Given the description of an element on the screen output the (x, y) to click on. 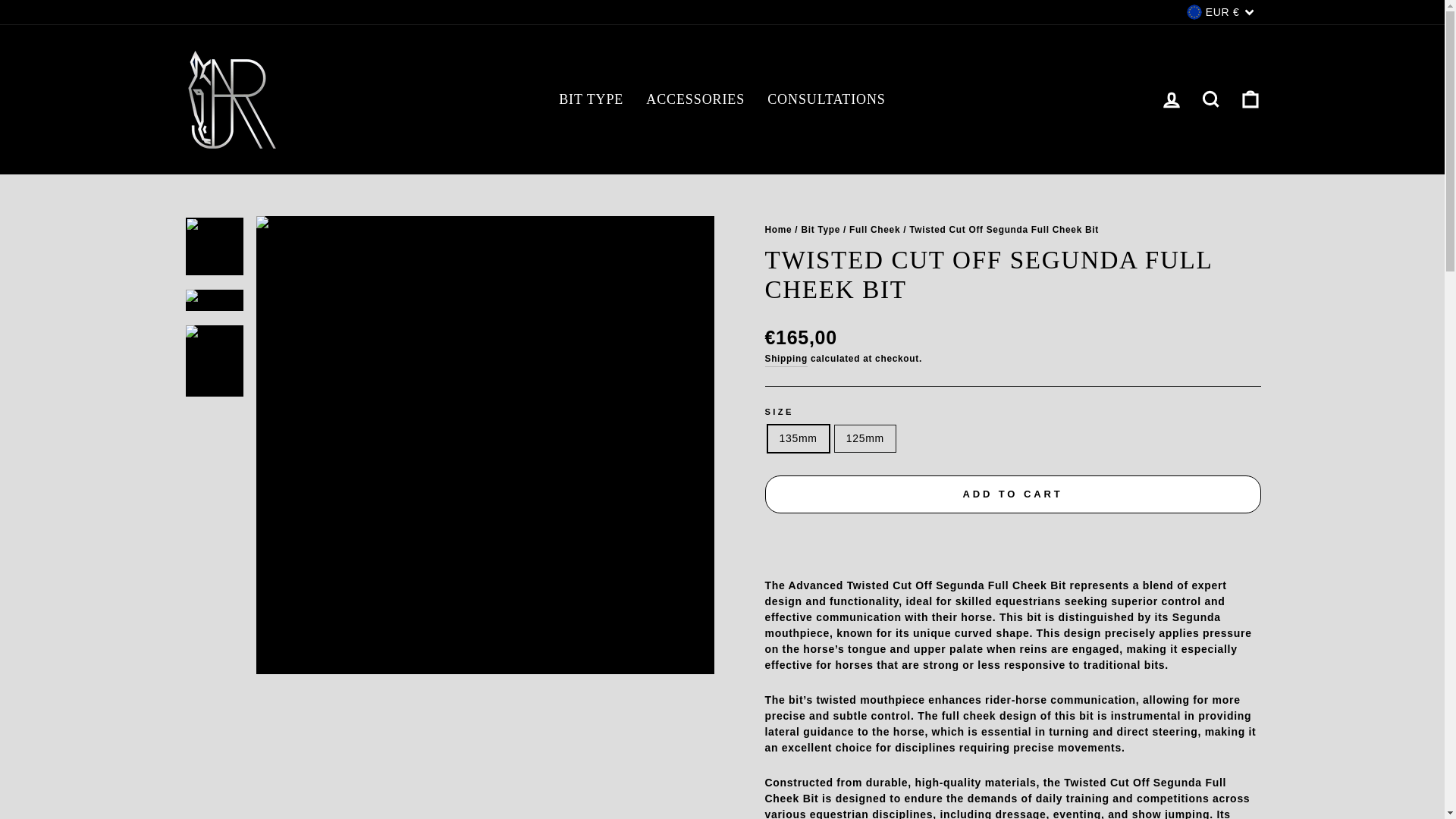
Full Cheek (873, 229)
BIT TYPE (590, 99)
Bit Type (820, 229)
Back to the frontpage (778, 229)
